Given the description of an element on the screen output the (x, y) to click on. 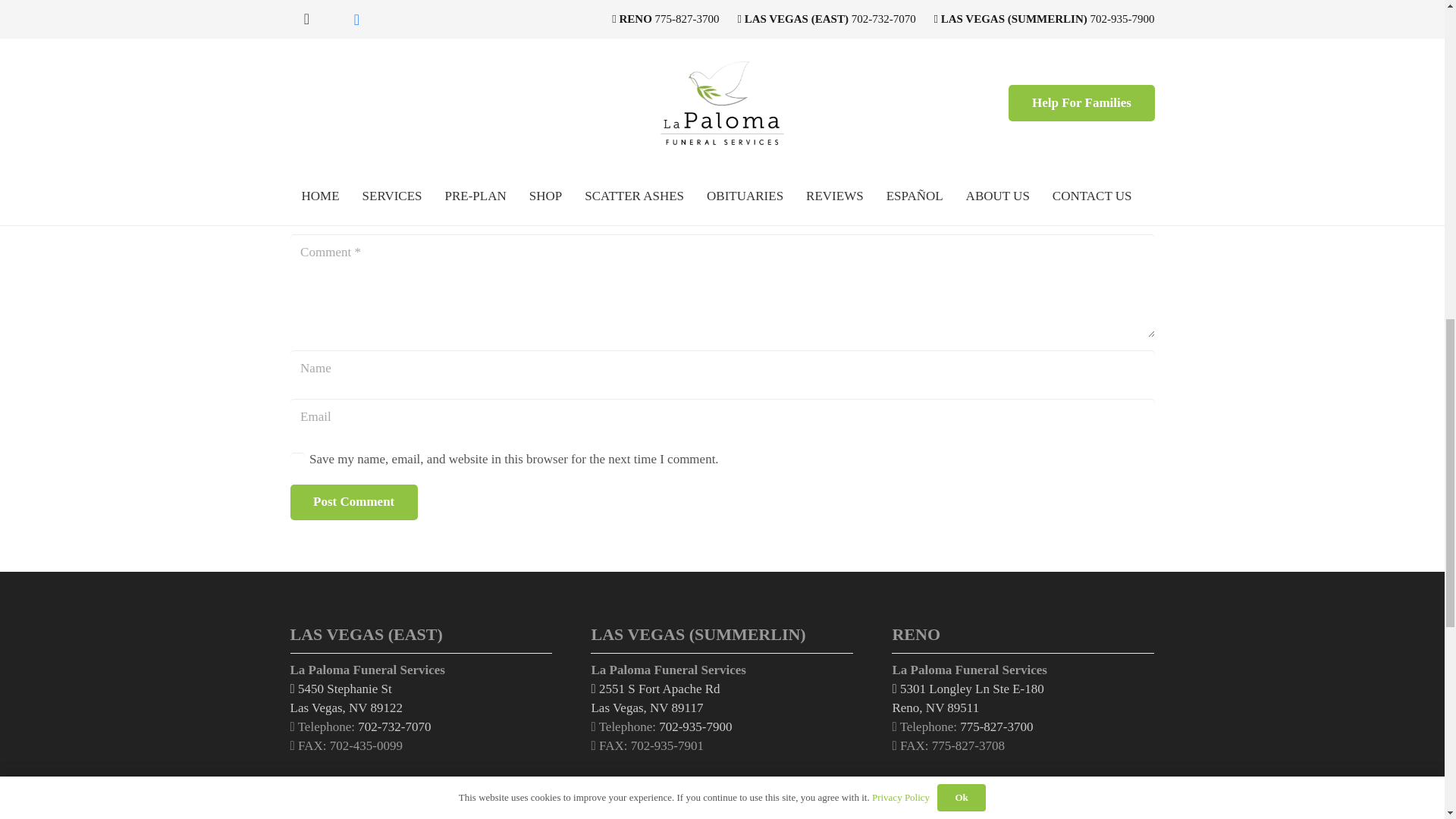
Reply (301, 116)
Back to top (30, 26)
September 21, 2017 12:27 am (346, 697)
702-732-7070 (396, 61)
775-827-3700 (394, 726)
702-935-7900 (655, 697)
Leave new (995, 726)
1 (695, 726)
